Given the description of an element on the screen output the (x, y) to click on. 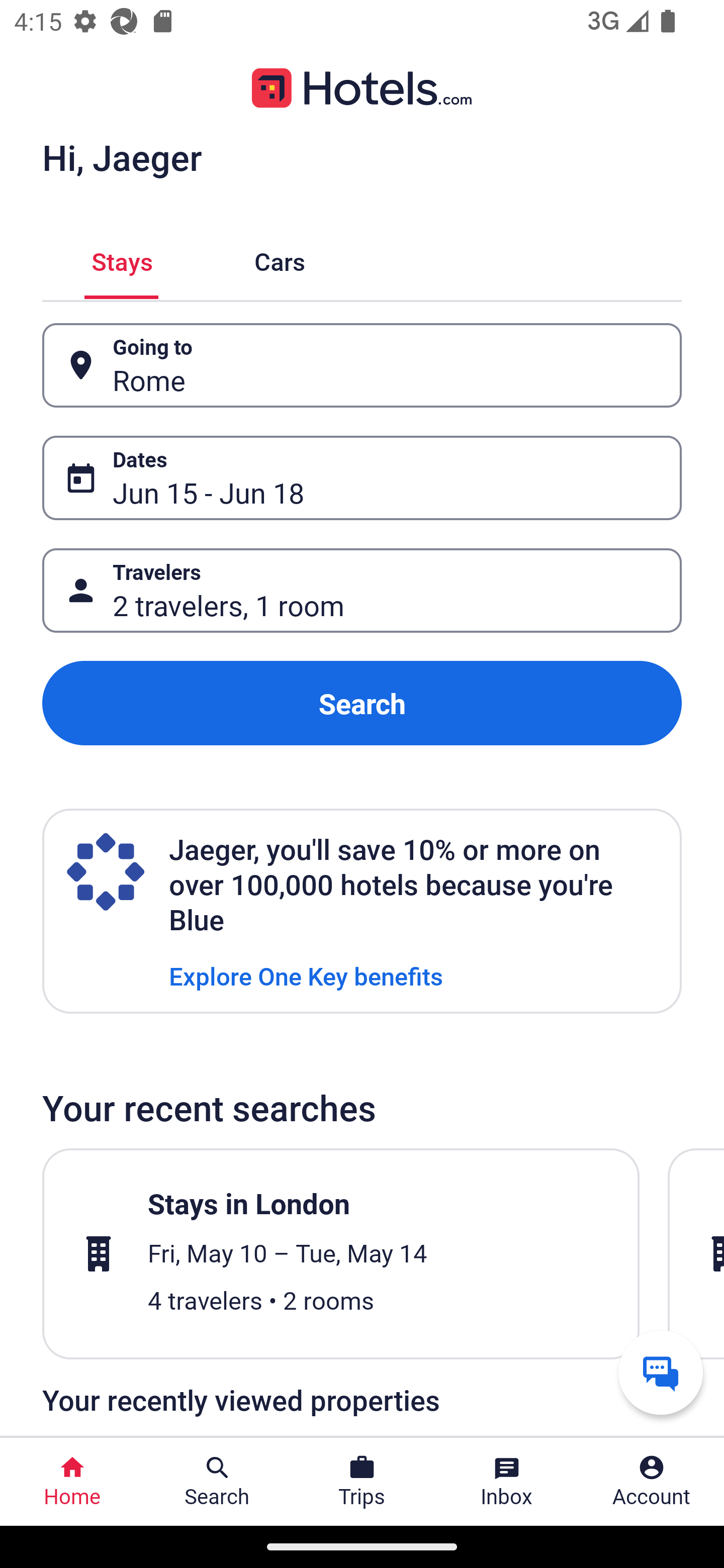
Hi, Jaeger (121, 156)
Cars (279, 259)
Going to Button Rome (361, 365)
Dates Button Jun 15 - Jun 18 (361, 477)
Travelers Button 2 travelers, 1 room (361, 590)
Search (361, 702)
Get help from a virtual agent (660, 1371)
Search Search Button (216, 1481)
Trips Trips Button (361, 1481)
Inbox Inbox Button (506, 1481)
Account Profile. Button (651, 1481)
